Given the description of an element on the screen output the (x, y) to click on. 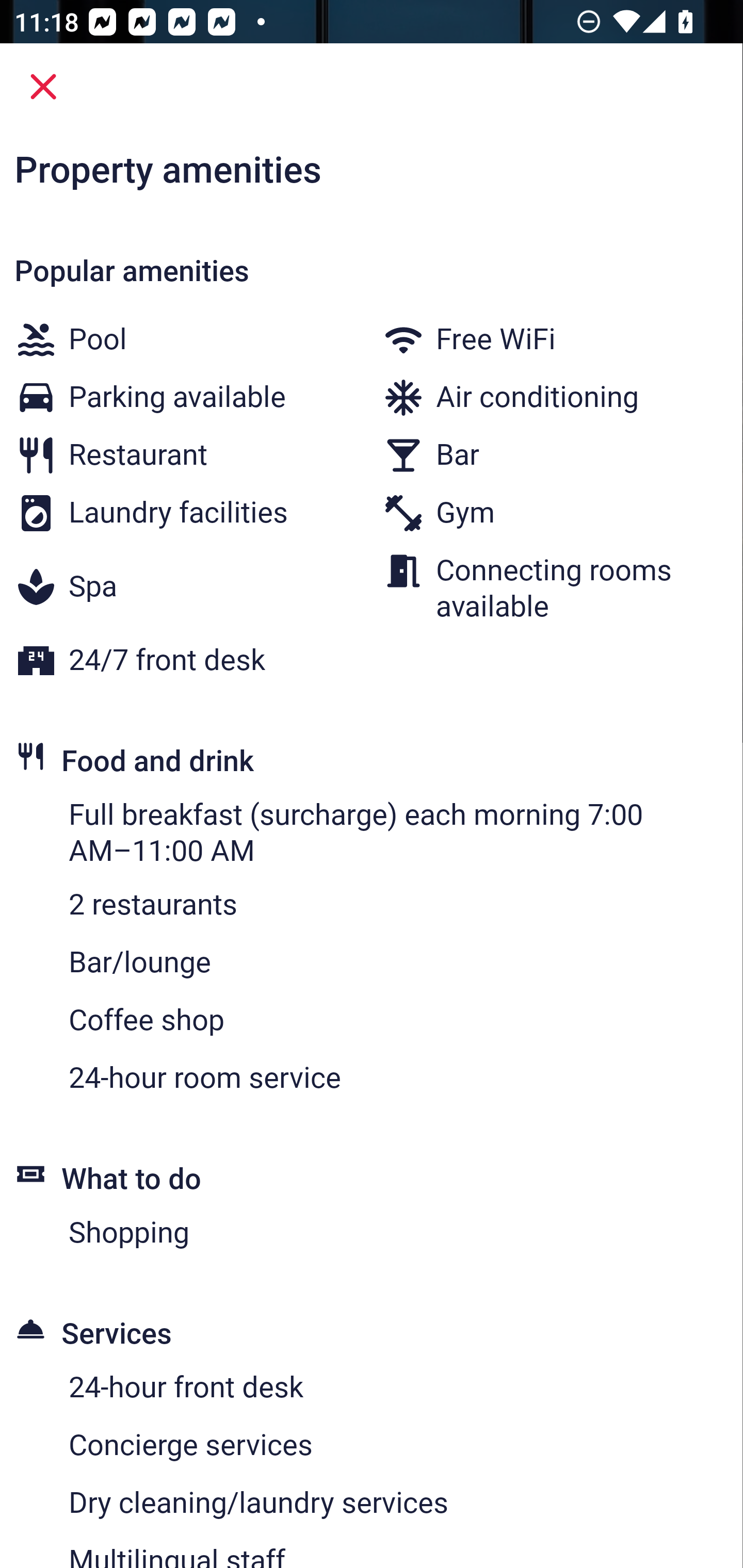
Close (43, 86)
